Given the description of an element on the screen output the (x, y) to click on. 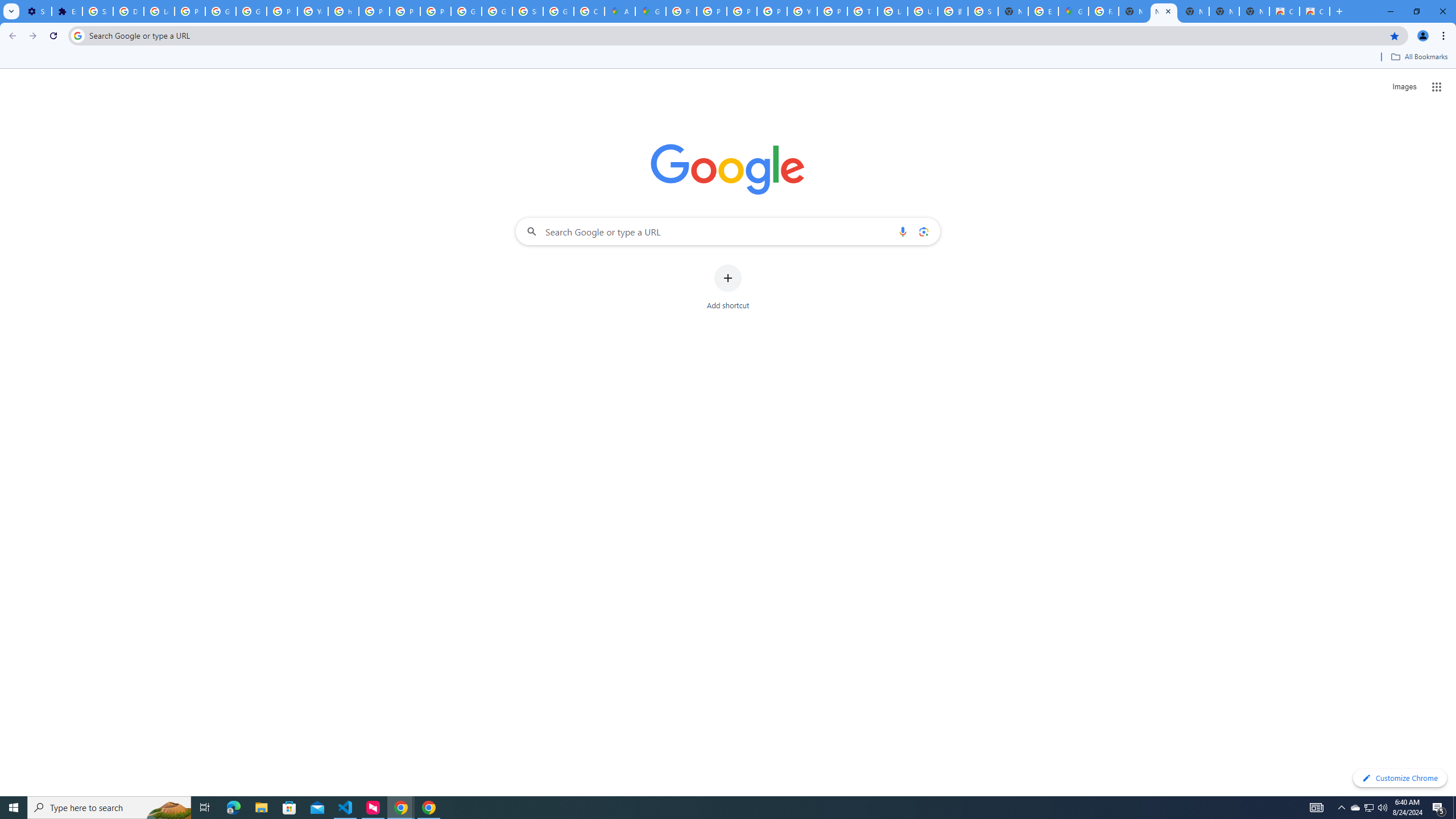
Customize Chrome (1399, 778)
Google Maps (1072, 11)
Google Maps (650, 11)
Privacy Help Center - Policies Help (711, 11)
Delete photos & videos - Computer - Google Photos Help (127, 11)
Sign in - Google Accounts (527, 11)
Privacy Help Center - Policies Help (373, 11)
Sign in - Google Accounts (982, 11)
